Given the description of an element on the screen output the (x, y) to click on. 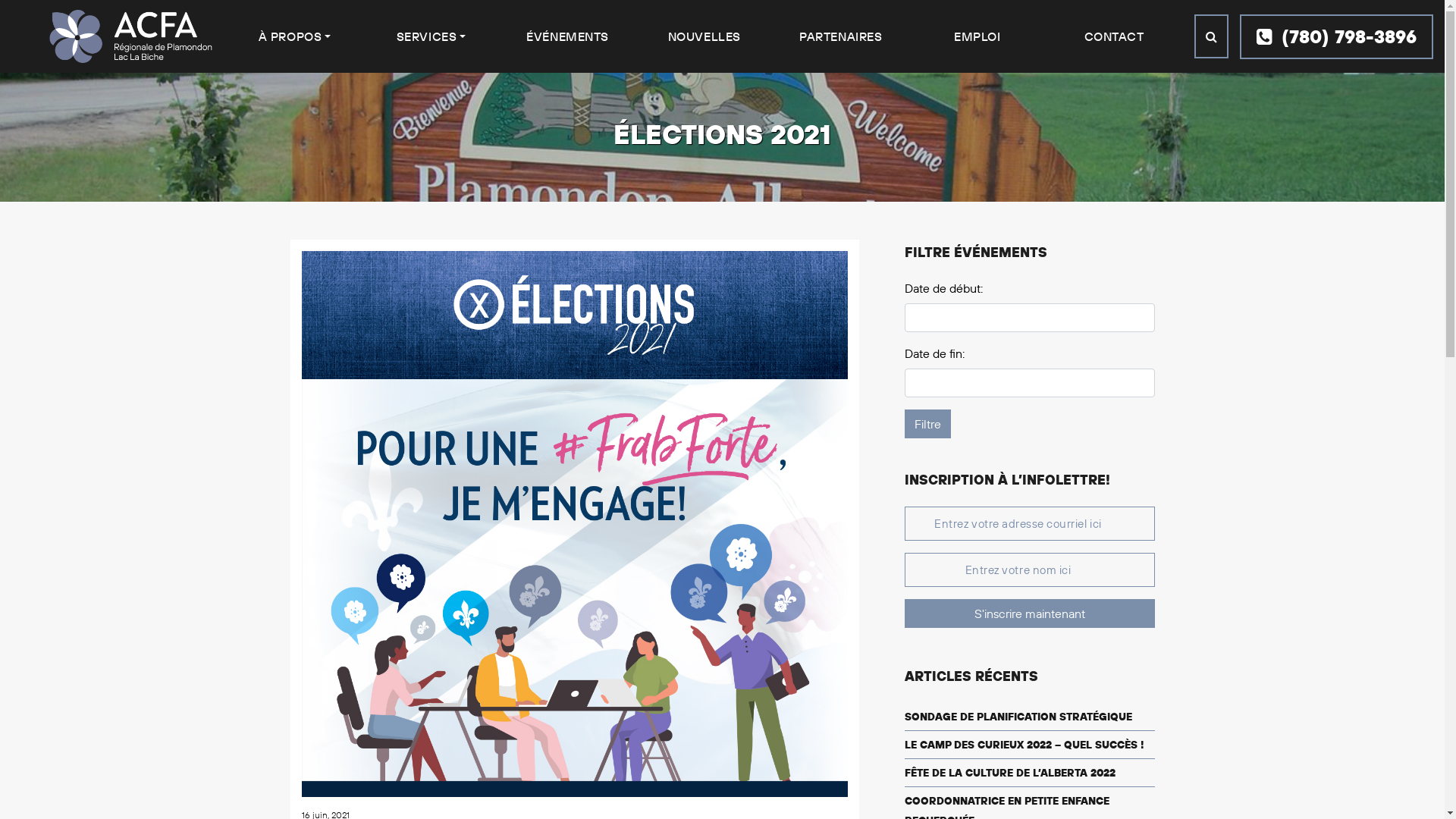
SERVICES Element type: text (431, 36)
Search Element type: hover (1211, 36)
Filtre Element type: text (926, 423)
PARTENAIRES Element type: text (840, 36)
(780) 798-3896 Element type: text (1336, 35)
NOUVELLES Element type: text (704, 36)
EMPLOI Element type: text (976, 36)
CONTACT Element type: text (1114, 36)
S'inscrire maintenant Element type: text (1028, 613)
